Given the description of an element on the screen output the (x, y) to click on. 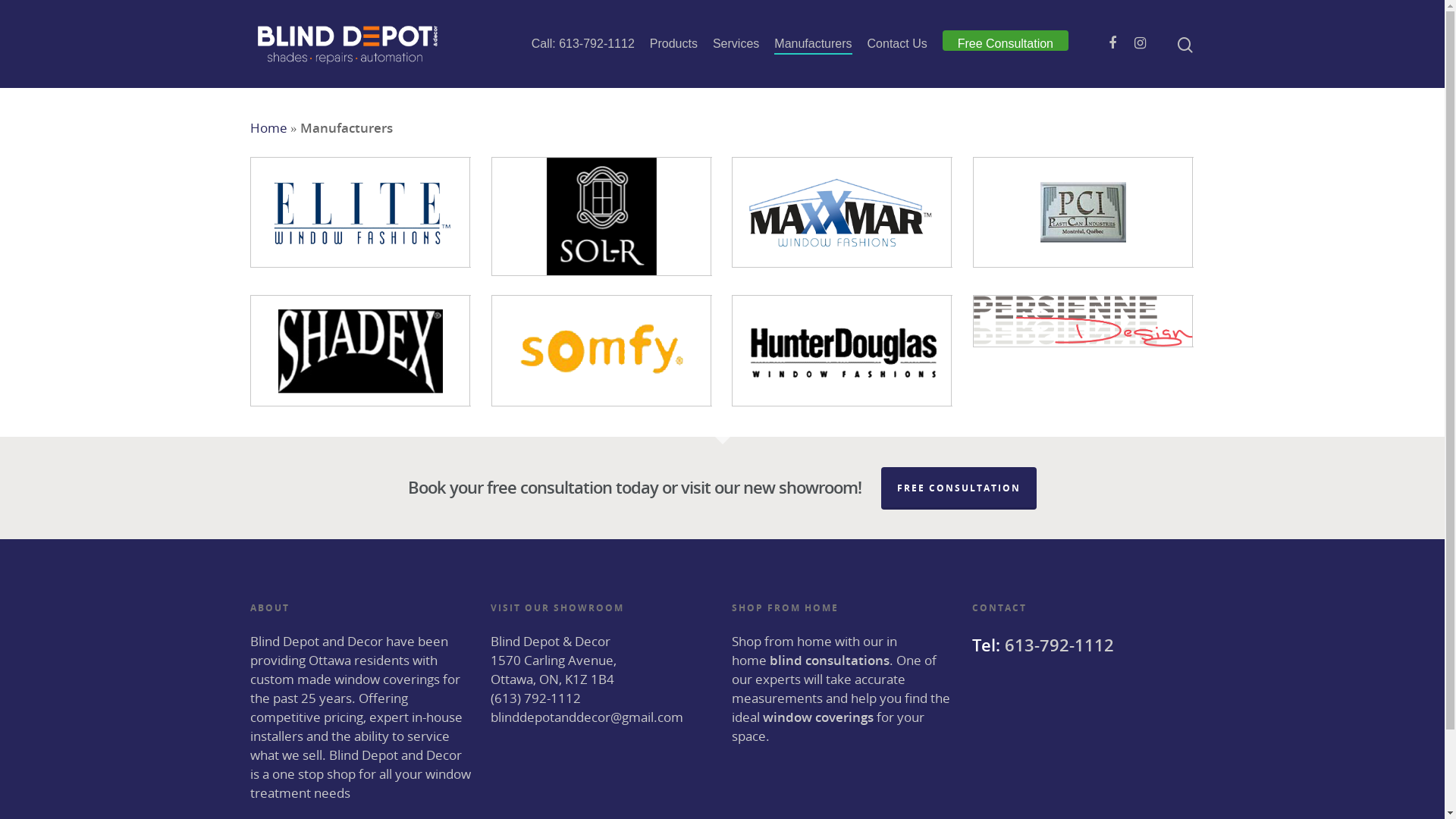
Services Element type: text (735, 43)
613-792-1112 Element type: text (1058, 644)
Products Element type: text (673, 43)
Call: 613-792-1112 Element type: text (582, 43)
Manufacturers Element type: text (812, 43)
window coverings Element type: text (817, 716)
Contact Us Element type: text (897, 43)
Home Element type: text (268, 127)
FREE CONSULTATION Element type: text (958, 488)
Free Consultation Element type: text (1005, 43)
blinddepotanddecor@gmail.com Element type: text (586, 716)
blind consultations Element type: text (829, 659)
